Given the description of an element on the screen output the (x, y) to click on. 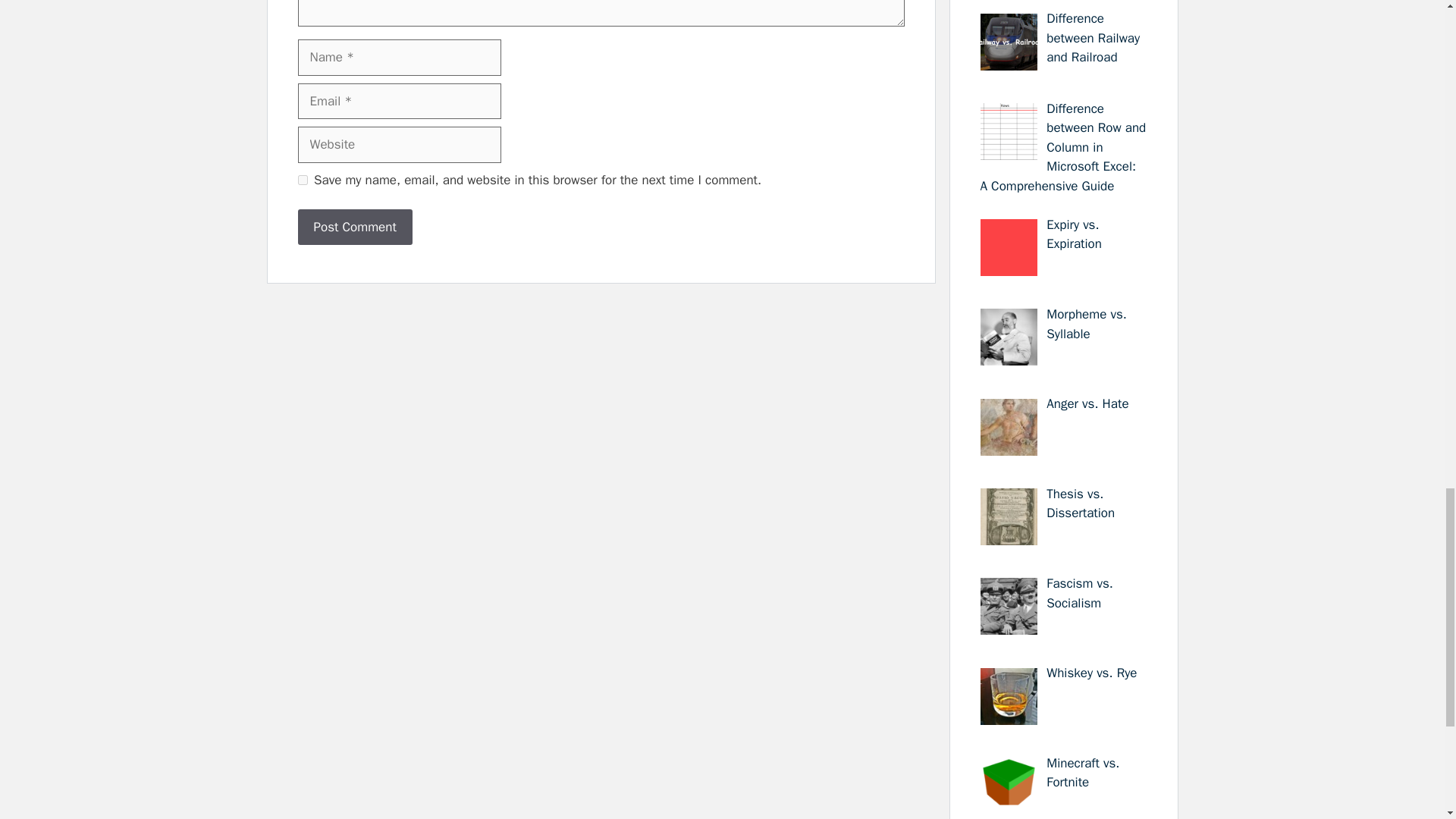
Difference between Railway and Railroad (1093, 37)
Expiry vs. Expiration (1074, 234)
Whiskey vs. Rye (1091, 672)
Minecraft vs. Fortnite (1082, 773)
Thesis vs. Dissertation (1080, 503)
Anger vs. Hate (1087, 403)
yes (302, 180)
Morpheme vs. Syllable (1086, 324)
Post Comment (354, 227)
